Given the description of an element on the screen output the (x, y) to click on. 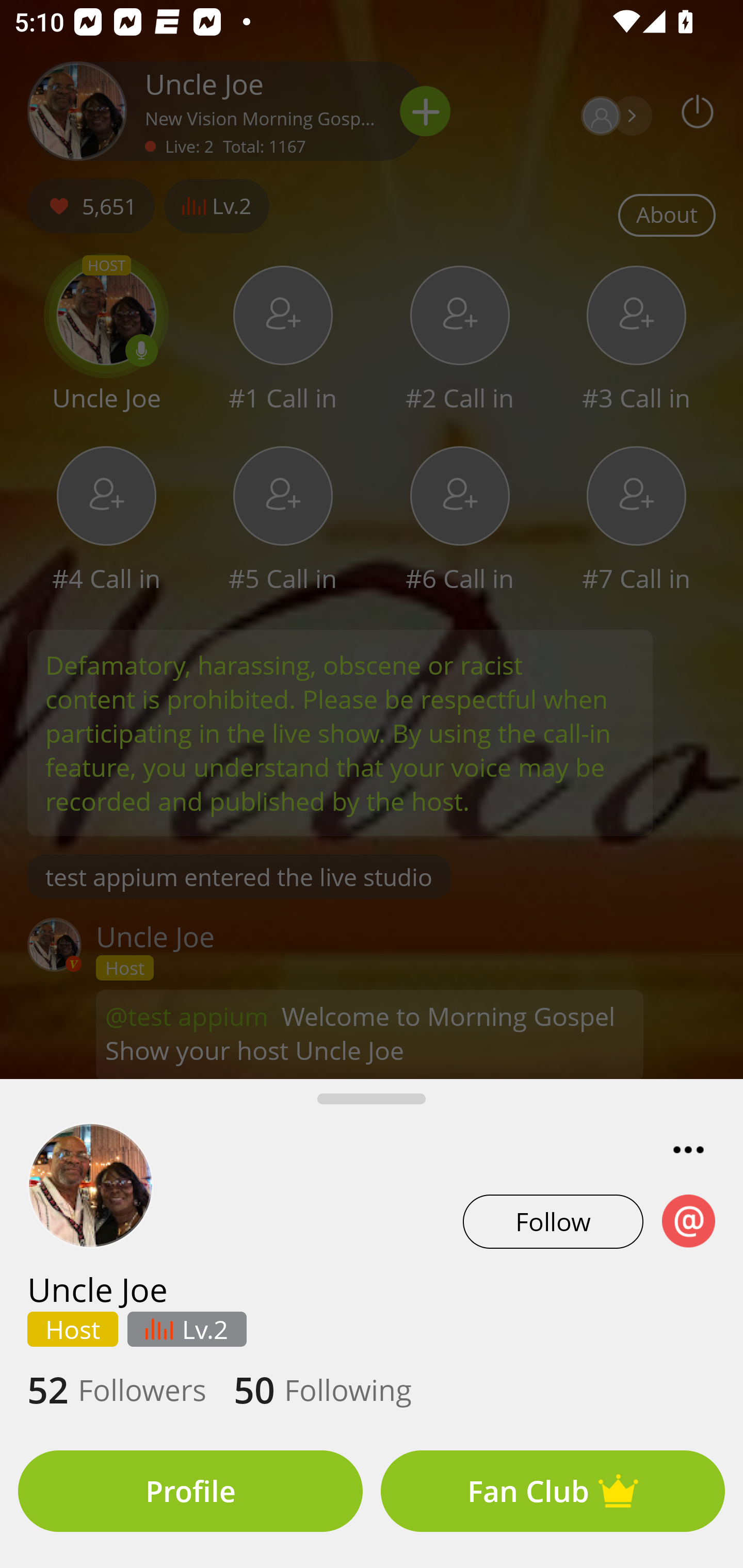
Follow (552, 1221)
Profile (189, 1490)
Fan Club (552, 1490)
